Given the description of an element on the screen output the (x, y) to click on. 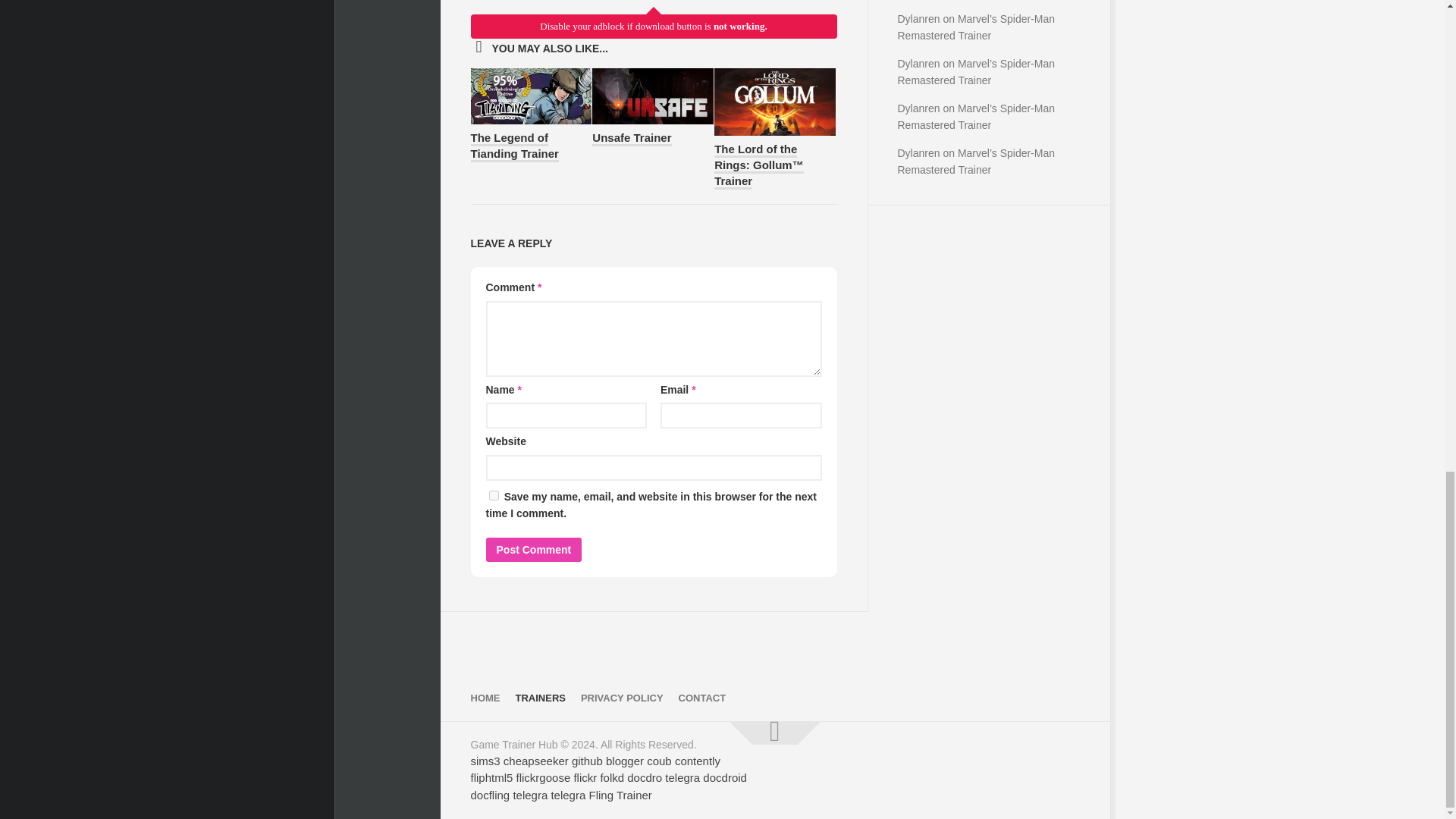
Unsafe Trainer (631, 138)
Post Comment (532, 549)
yes (492, 495)
Post Comment (532, 549)
The Legend of Tianding Trainer (513, 146)
